Given the description of an element on the screen output the (x, y) to click on. 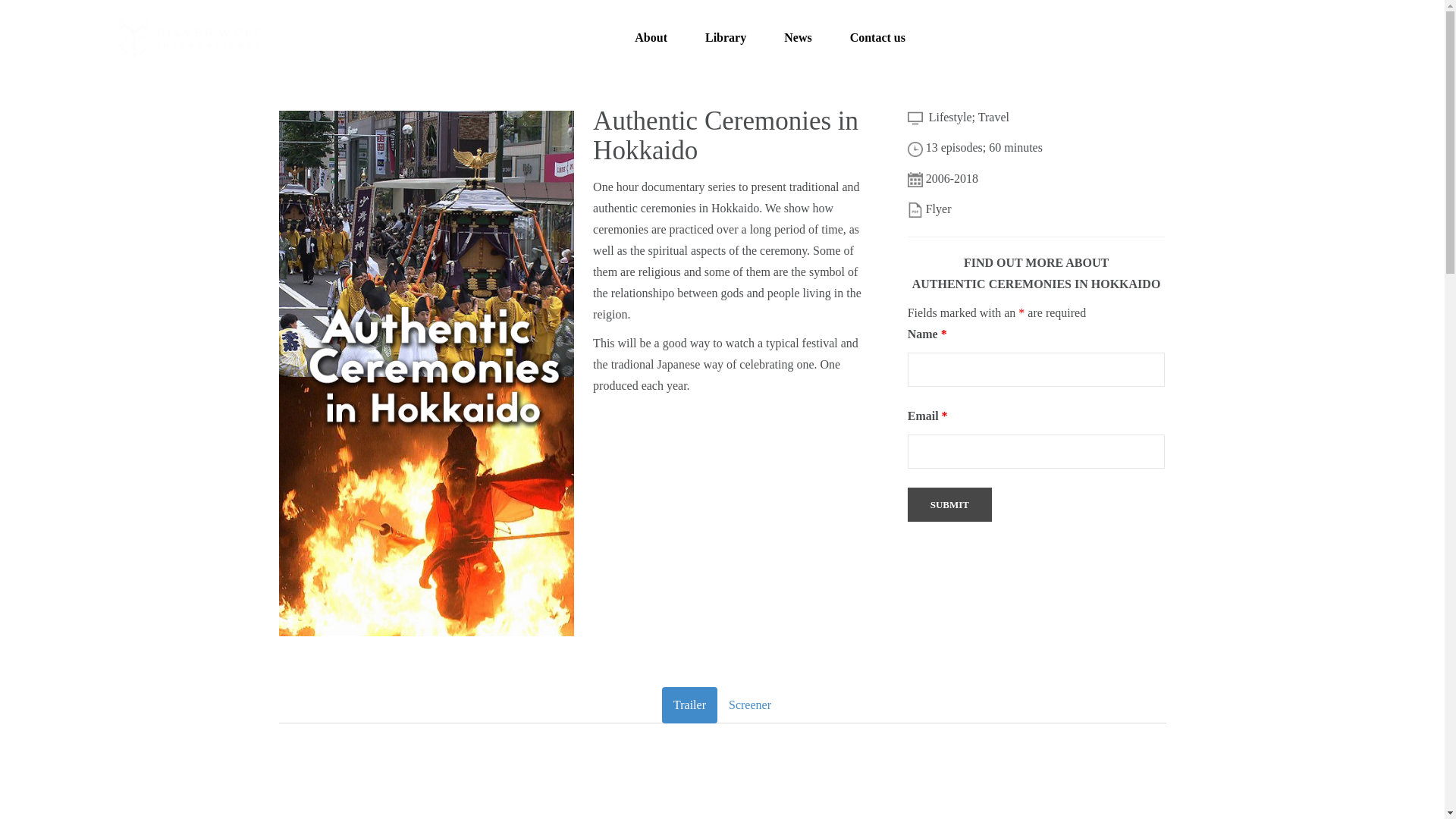
Submit (949, 504)
News (797, 38)
About (650, 38)
Screener (750, 705)
Trailer (689, 705)
Submit (949, 504)
Library (725, 38)
Contact us (877, 38)
